Given the description of an element on the screen output the (x, y) to click on. 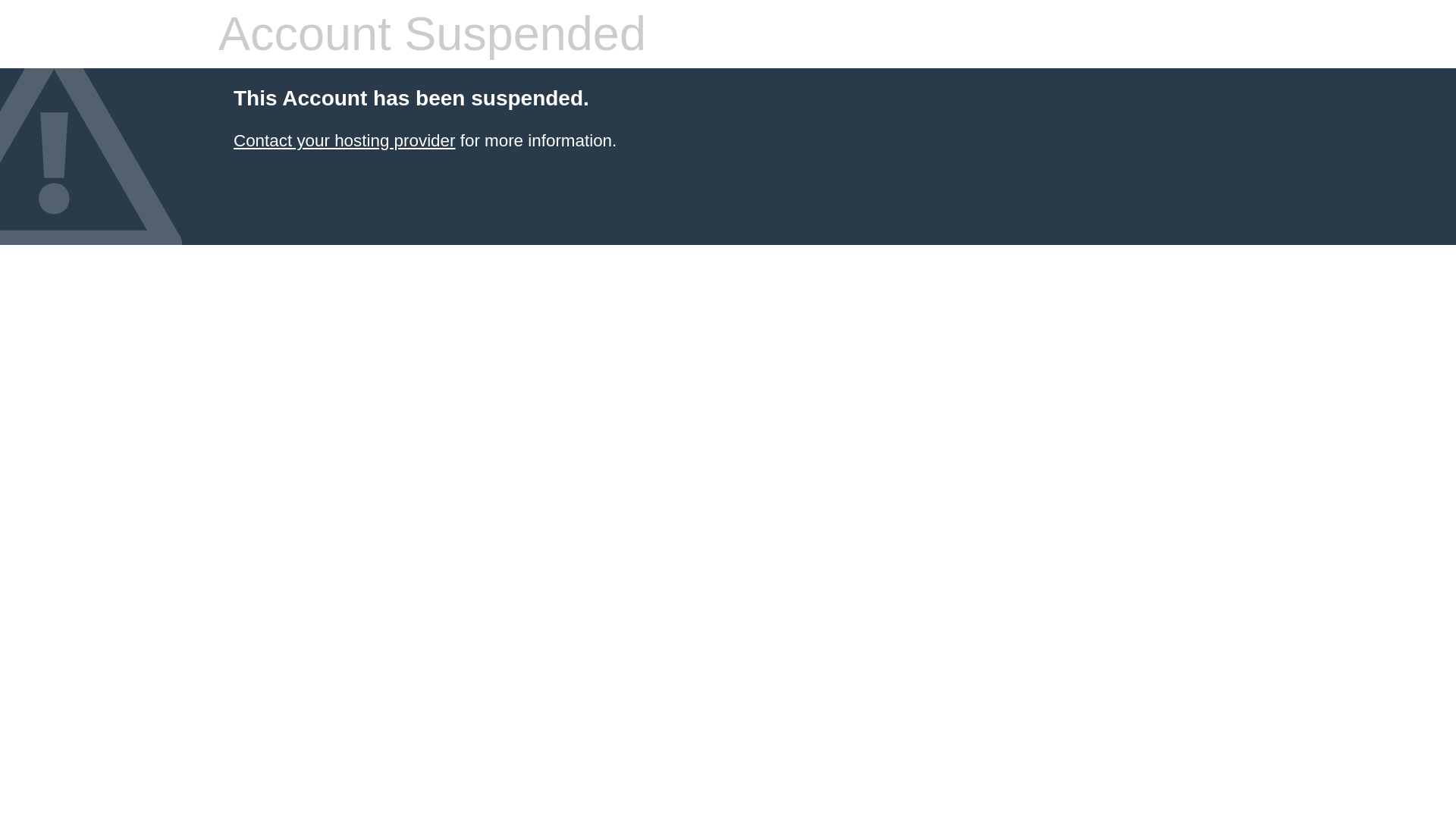
Contact your hosting provider (343, 140)
